Given the description of an element on the screen output the (x, y) to click on. 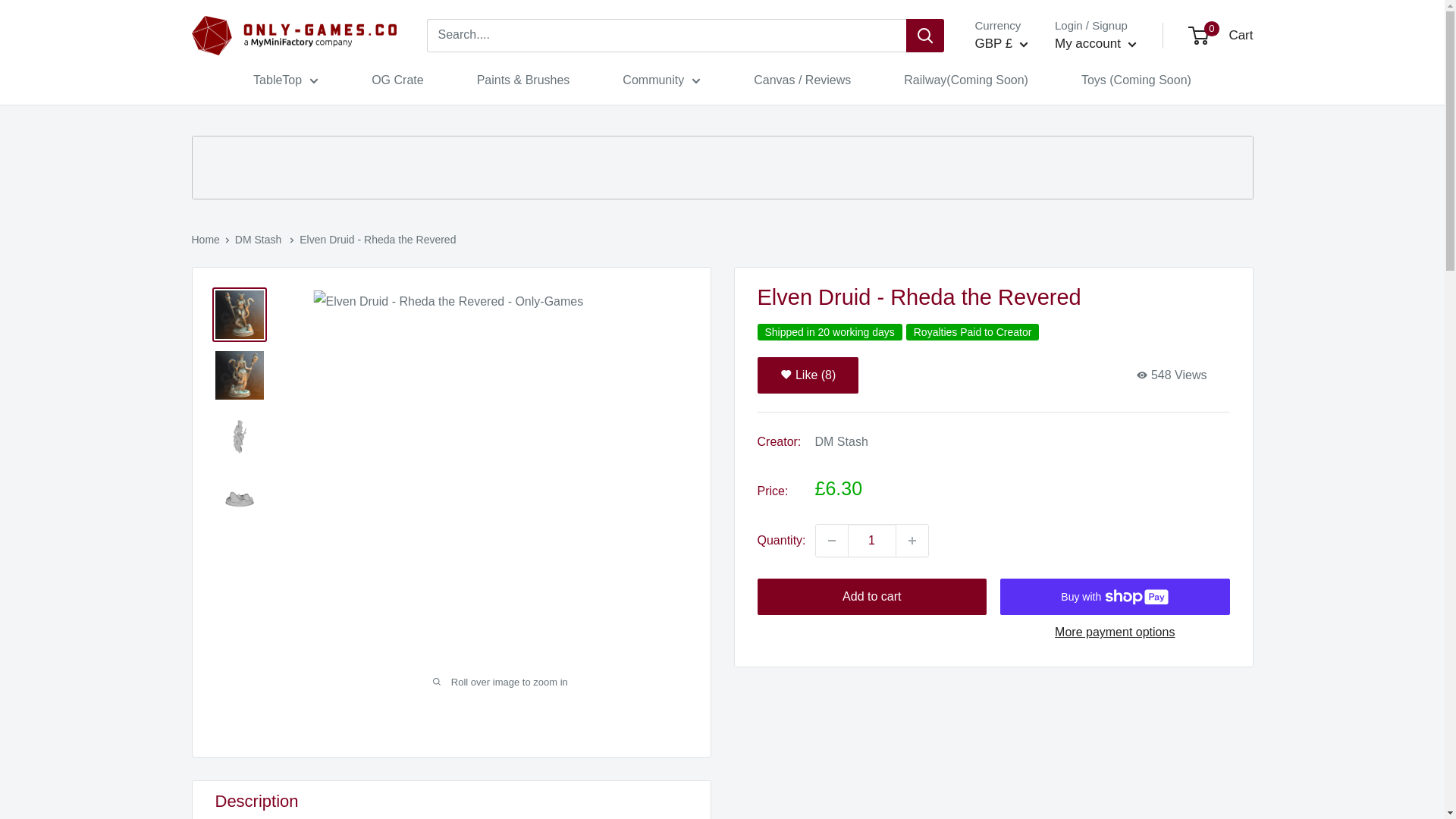
USD (1016, 181)
GBP (1016, 158)
1 (871, 540)
EUR (1016, 135)
Decrease quantity by 1 (831, 540)
My account (1095, 43)
Only-Games (293, 35)
AUD (1016, 88)
DKK (1016, 112)
Increase quantity by 1 (912, 540)
